Given the description of an element on the screen output the (x, y) to click on. 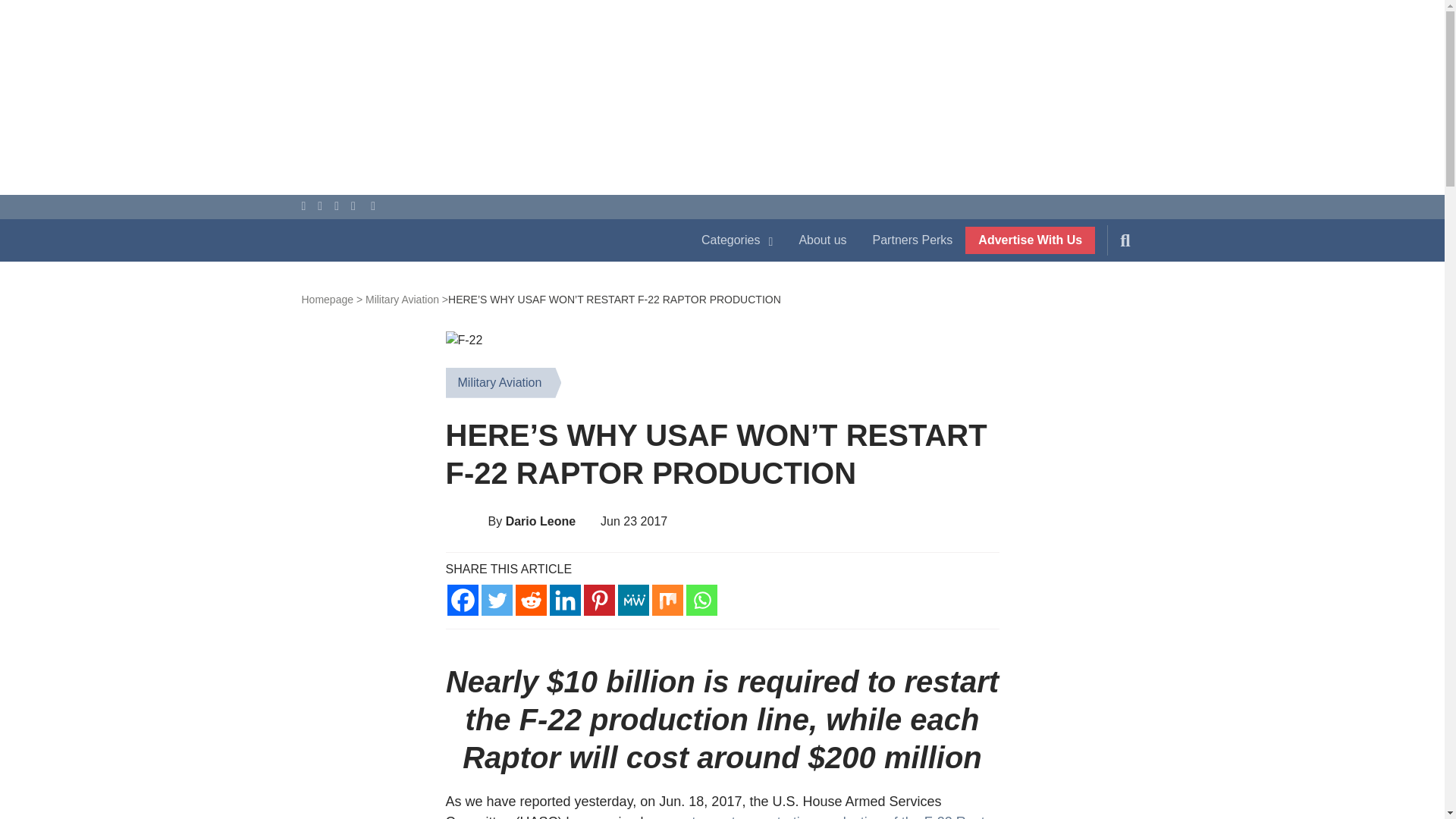
Twitter (496, 599)
Back to Home (485, 242)
Back to homepage (331, 299)
F-22 (464, 340)
Reddit (531, 599)
Partners Perks (913, 239)
Categories (737, 239)
Advertise With Us (1029, 239)
Facebook (462, 599)
About us (822, 239)
